Given the description of an element on the screen output the (x, y) to click on. 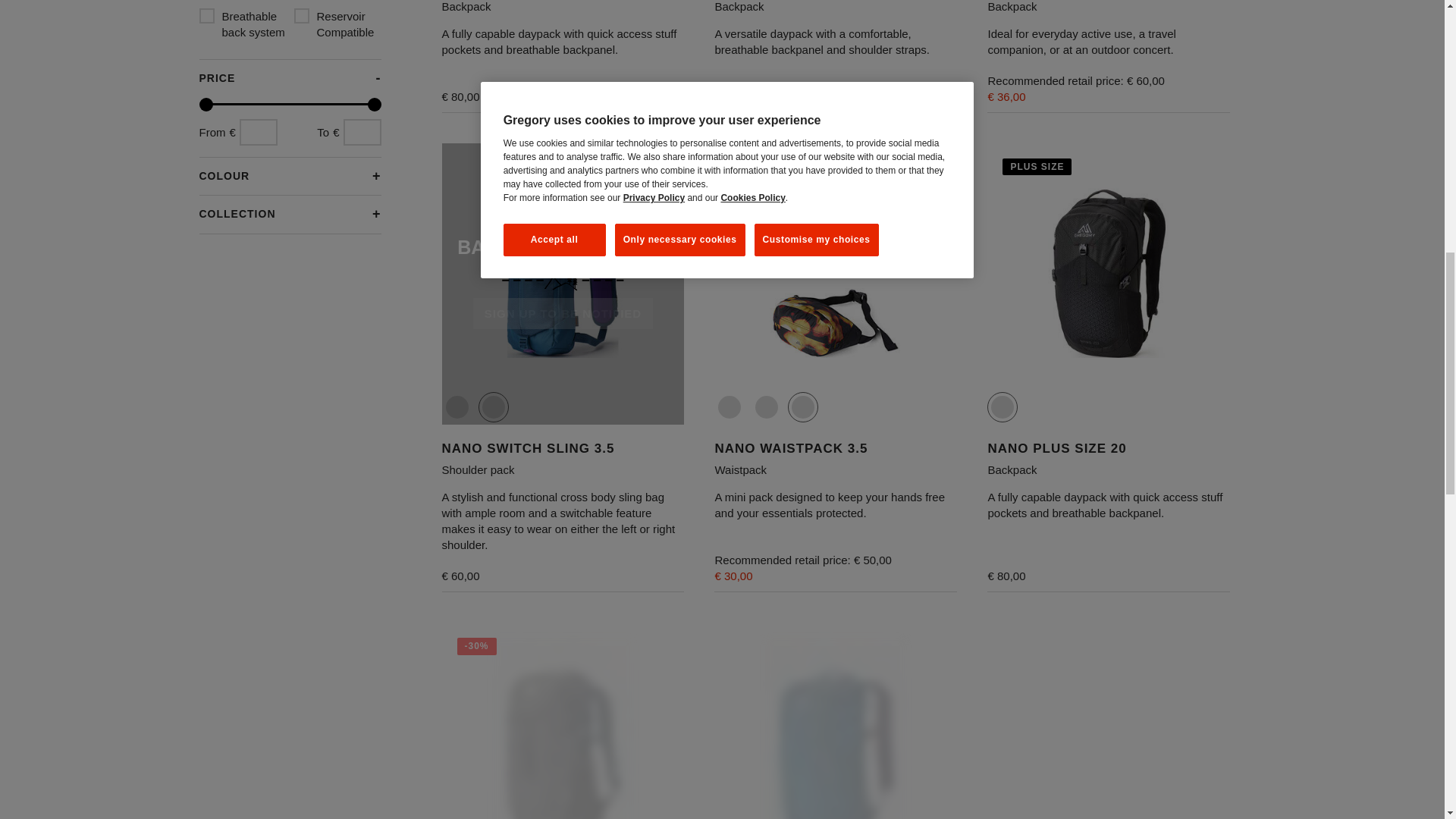
Refine by Features: Reservoir Compatible (337, 24)
Refine by Features: Breathable back system (241, 24)
